Given the description of an element on the screen output the (x, y) to click on. 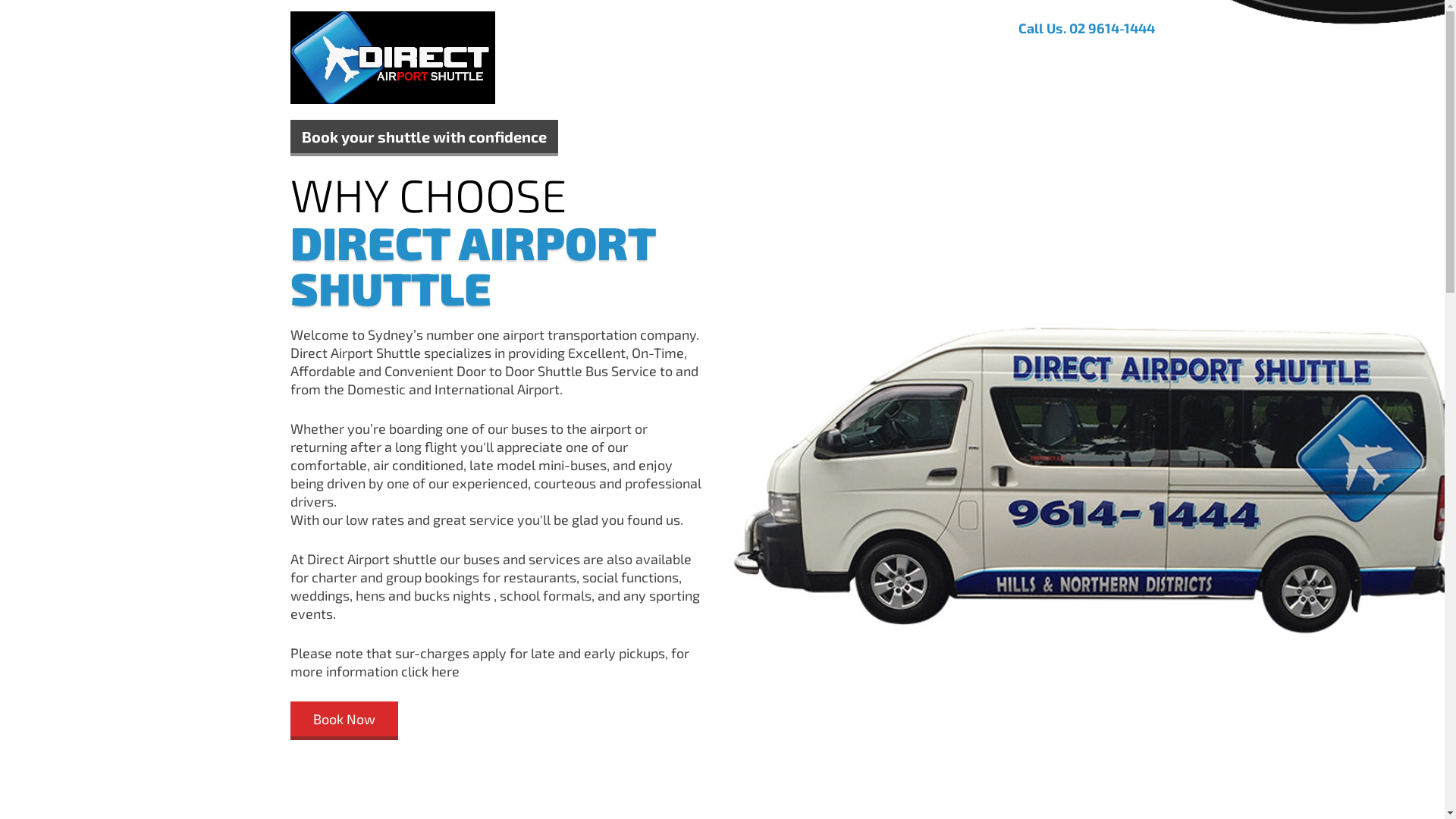
Book your shuttle with confidence Element type: text (423, 137)
Book Now Element type: text (343, 720)
Book Now Element type: text (1019, 61)
Contact Us Element type: text (1097, 61)
Rates Element type: text (957, 61)
Suburbs Element type: text (900, 61)
Home Element type: text (680, 61)
Buses & Meeting Points Element type: text (786, 61)
